Given the description of an element on the screen output the (x, y) to click on. 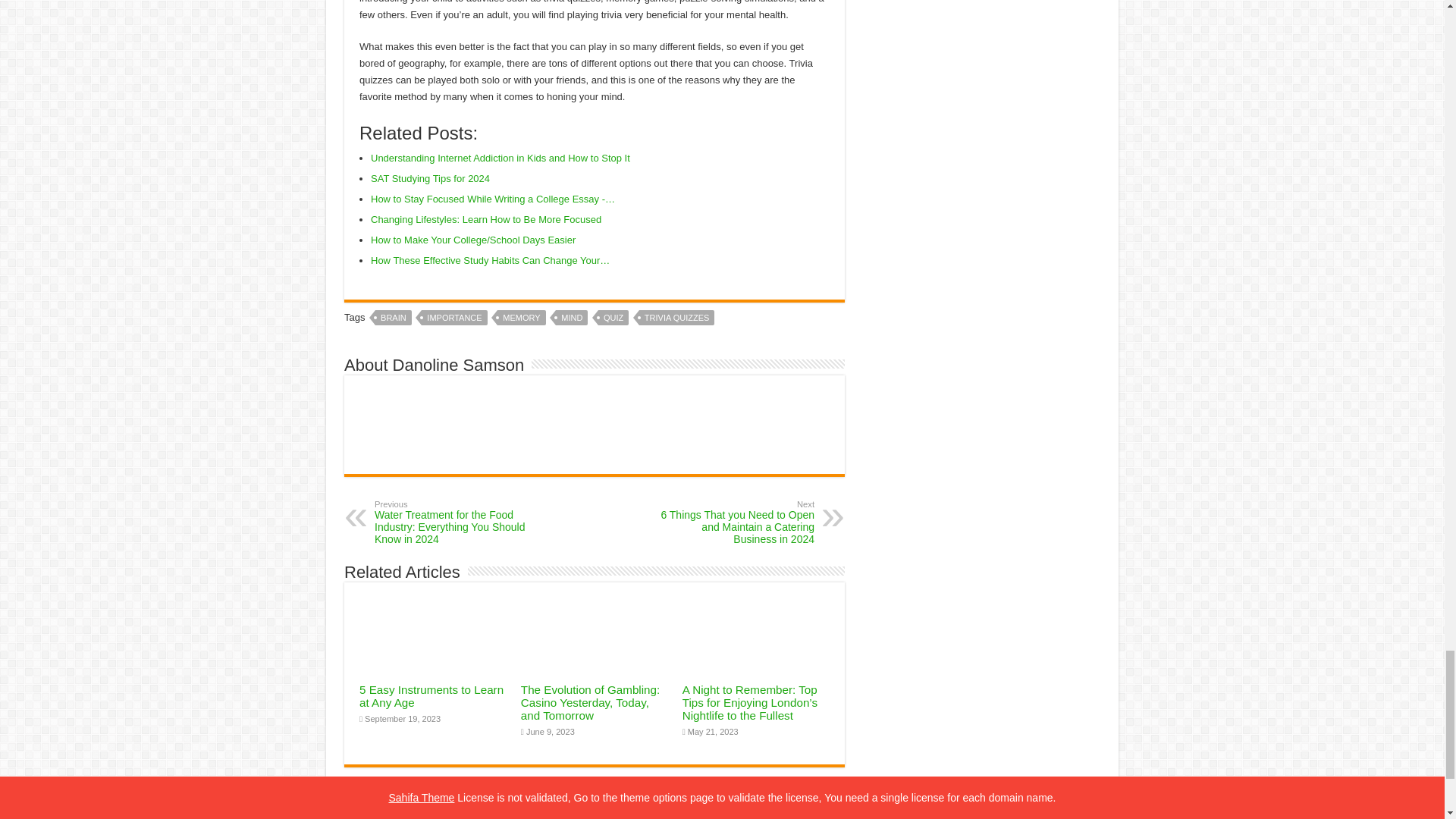
MIND (572, 317)
TRIVIA QUIZZES (676, 317)
SAT Studying Tips for 2024 (430, 178)
Changing Lifestyles: Learn How to Be More Focused (486, 219)
BRAIN (393, 317)
IMPORTANCE (454, 317)
QUIZ (613, 317)
Understanding Internet Addiction in Kids and How to Stop It (500, 157)
MEMORY (520, 317)
